Given the description of an element on the screen output the (x, y) to click on. 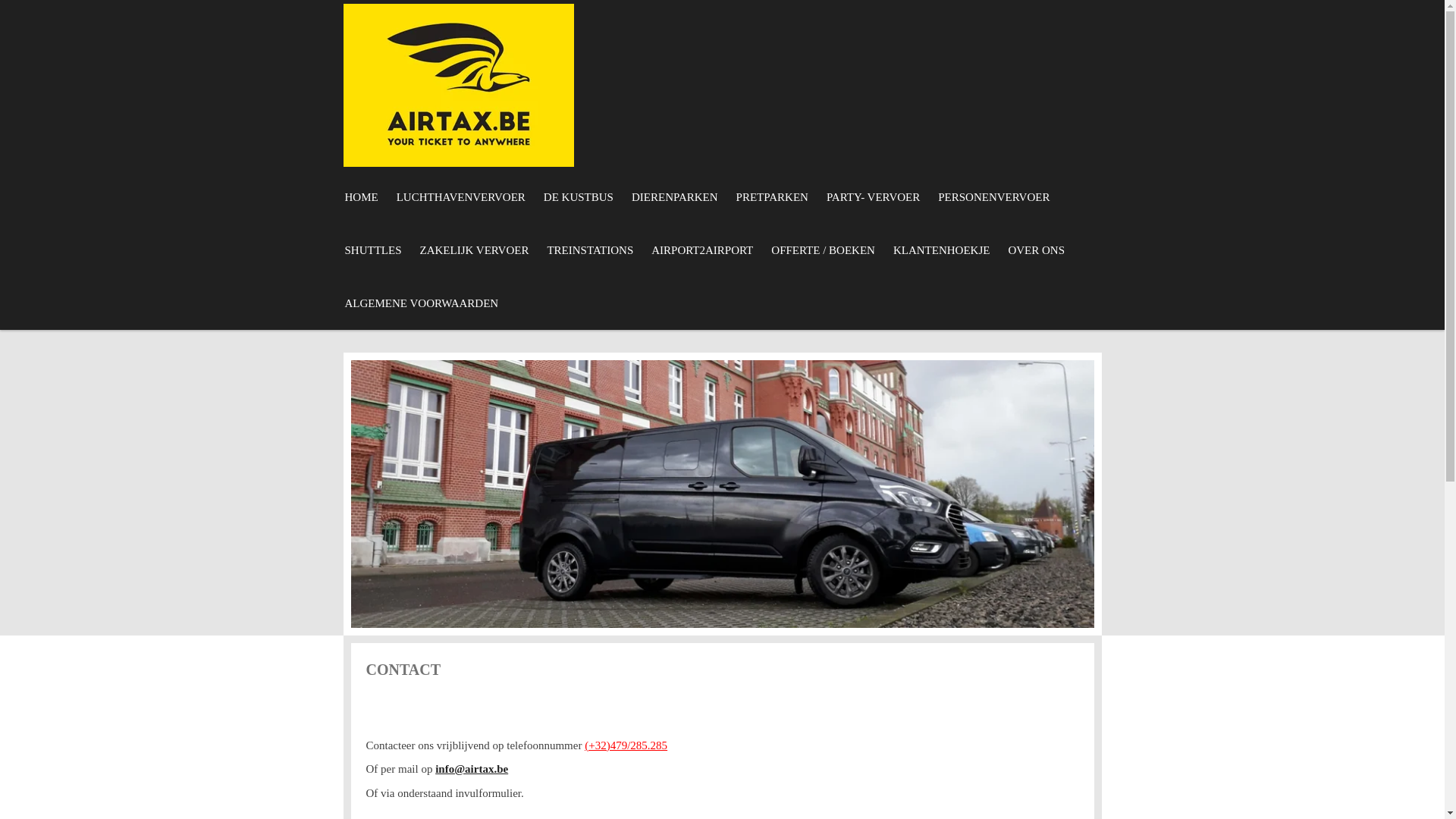
DIERENPARKEN Element type: text (674, 196)
TREINSTATIONS Element type: text (589, 249)
ALGEMENE VOORWAARDEN Element type: text (421, 302)
SHUTTLES Element type: text (372, 249)
Airtax.be Element type: hover (457, 84)
PARTY- VERVOER Element type: text (872, 196)
LUCHTHAVENVERVOER Element type: text (460, 196)
KLANTENHOEKJE Element type: text (941, 249)
info@airtax.be Element type: text (471, 768)
OFFERTE / BOEKEN Element type: text (823, 249)
ZAKELIJK VERVOER Element type: text (474, 249)
PERSONENVERVOER Element type: text (993, 196)
HOME Element type: text (360, 196)
PRETPARKEN Element type: text (772, 196)
DE KUSTBUS Element type: text (578, 196)
AIRPORT2AIRPORT Element type: text (702, 249)
OVER ONS Element type: text (1035, 249)
